Given the description of an element on the screen output the (x, y) to click on. 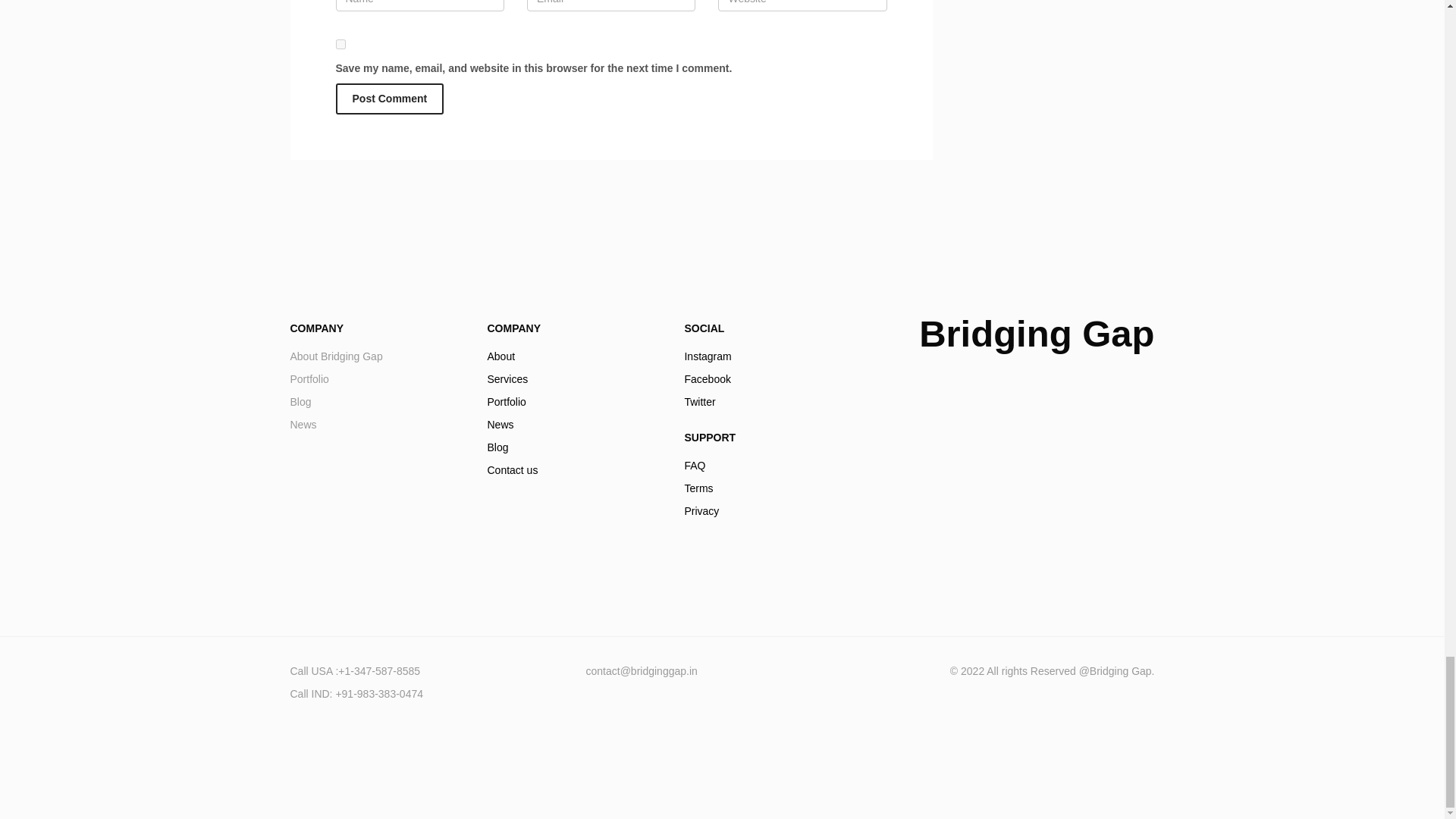
Post Comment (771, 378)
yes (771, 488)
